Given the description of an element on the screen output the (x, y) to click on. 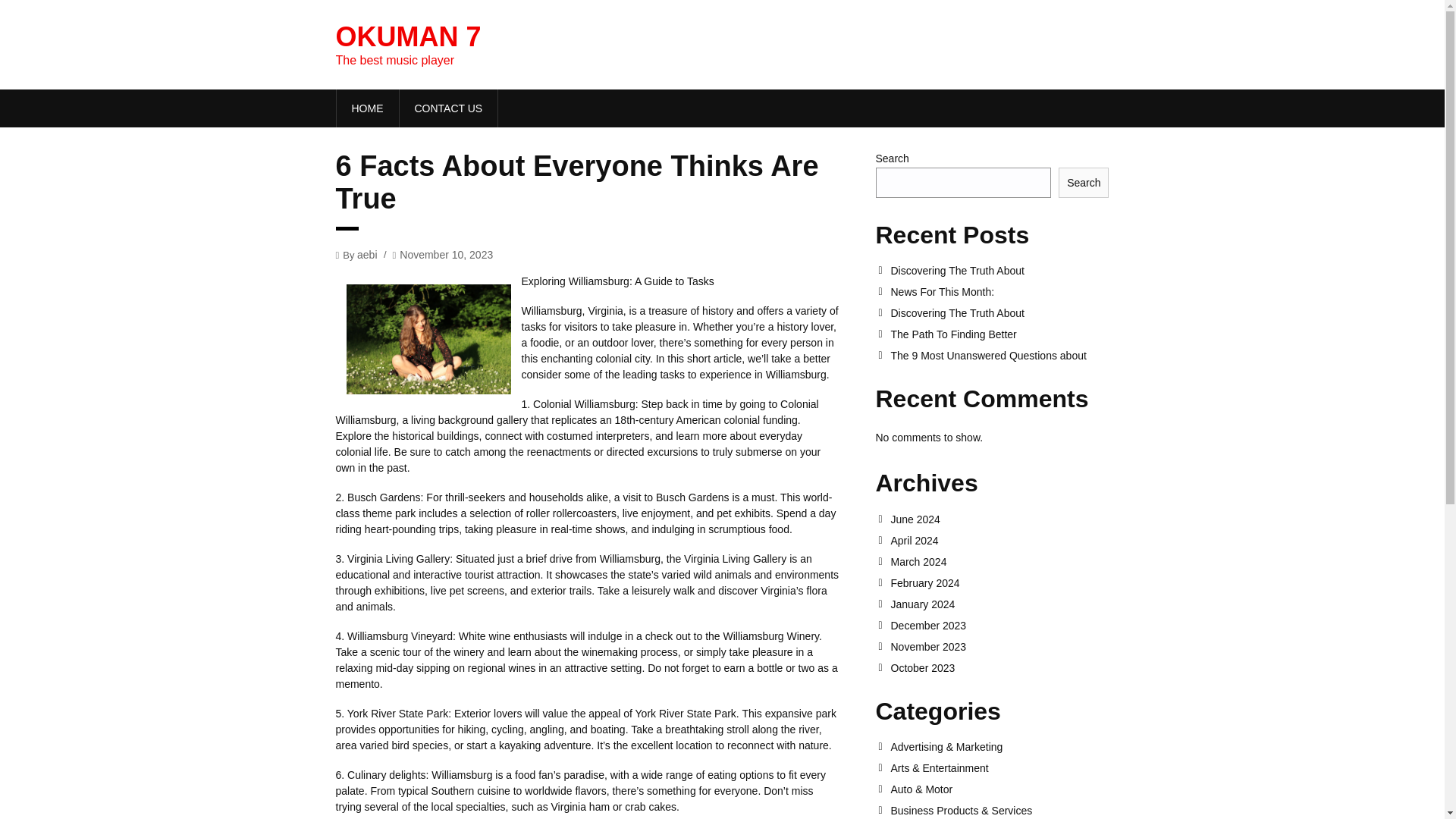
News For This Month: (998, 291)
February 2024 (998, 582)
The 9 Most Unanswered Questions about (998, 355)
November 2023 (998, 646)
June 2024 (998, 519)
HOME (367, 108)
Discovering The Truth About (998, 313)
Search (1083, 182)
October 2023 (998, 667)
Discovering The Truth About (998, 270)
